Given the description of an element on the screen output the (x, y) to click on. 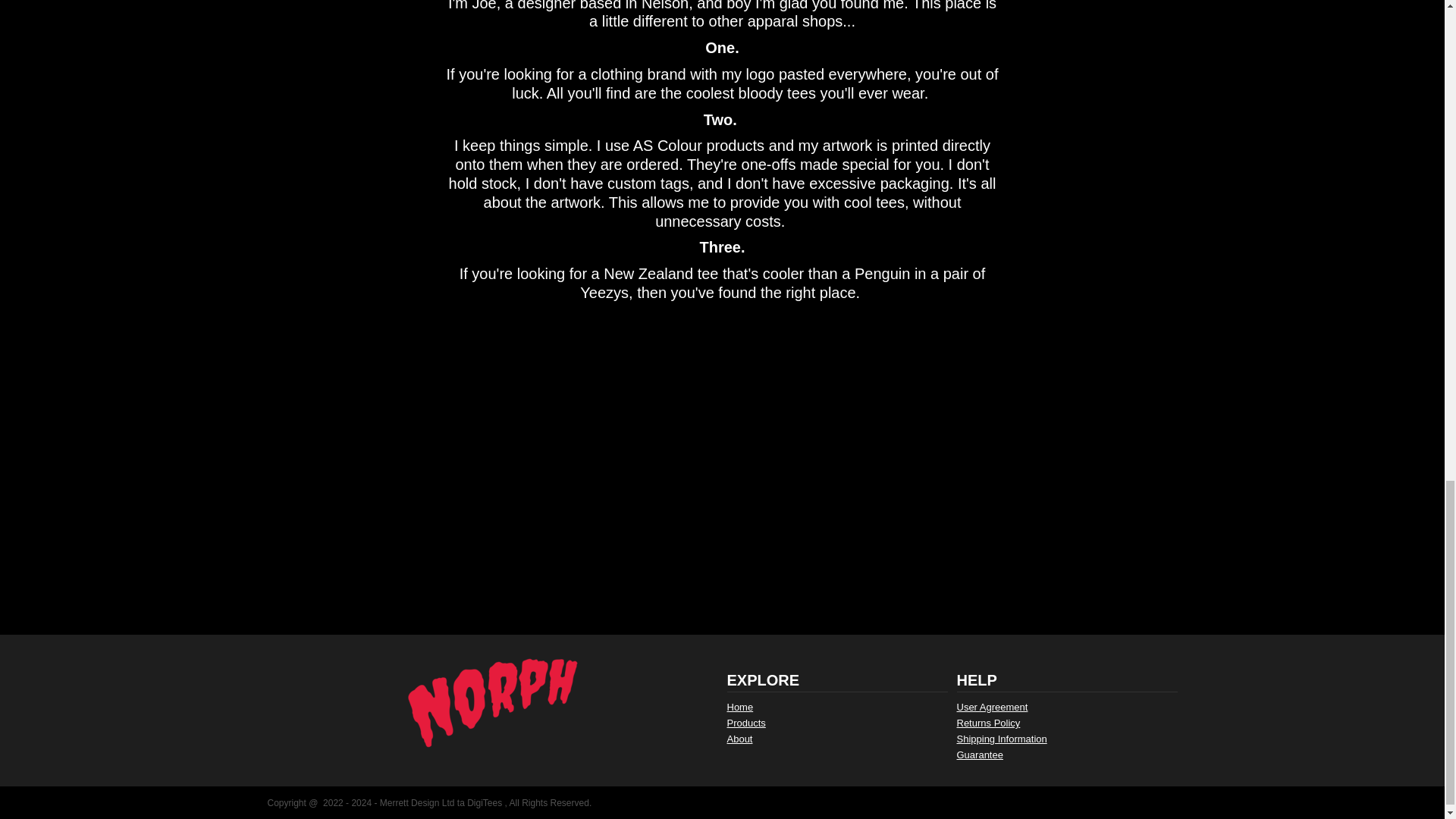
Returns Policy (988, 722)
Products (745, 722)
Home (739, 706)
About (739, 738)
Guarantee (979, 754)
Shipping Information (1001, 738)
User Agreement (991, 706)
